Given the description of an element on the screen output the (x, y) to click on. 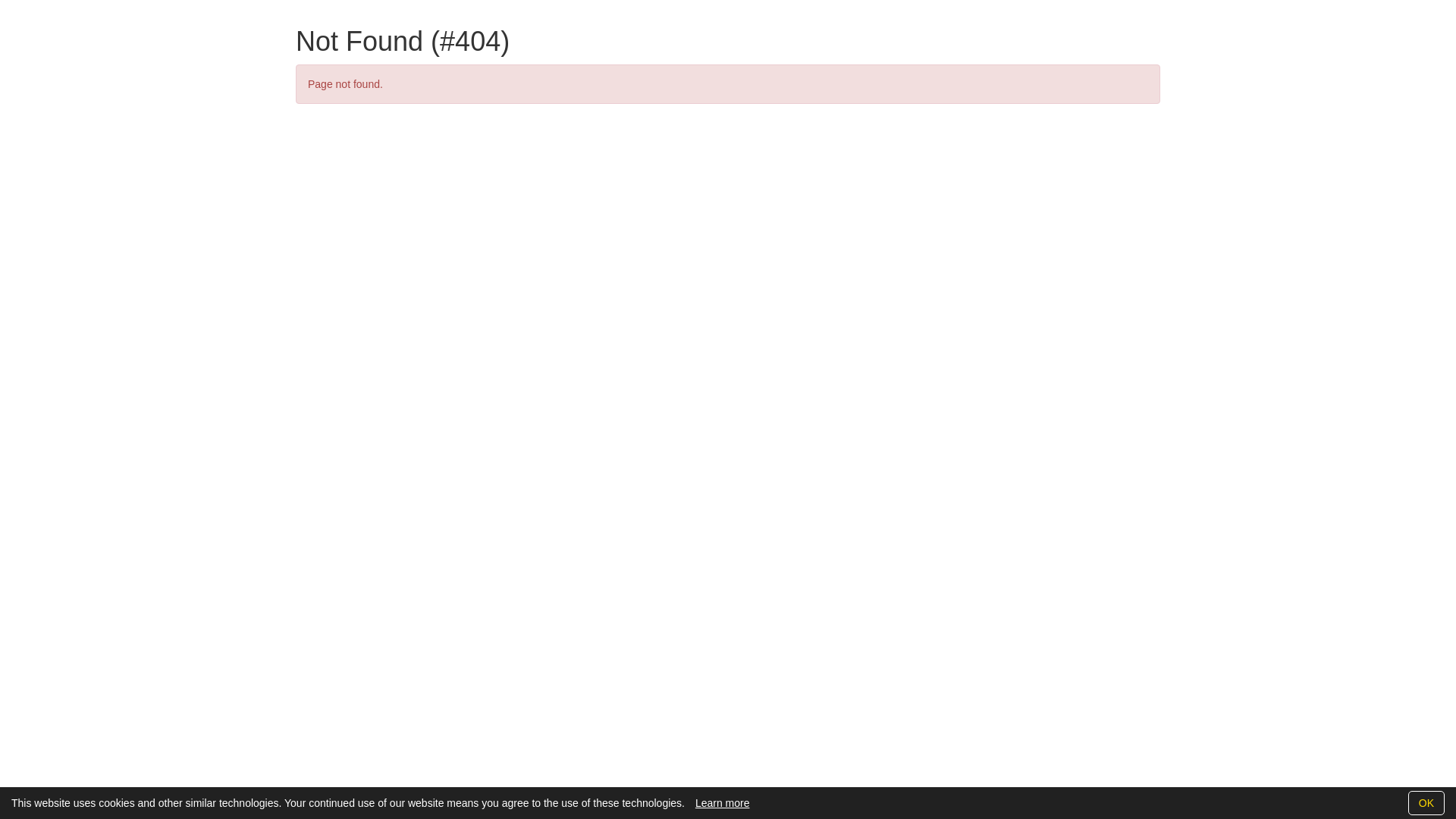
Learn more Element type: text (722, 803)
OK Element type: text (1426, 802)
